Given the description of an element on the screen output the (x, y) to click on. 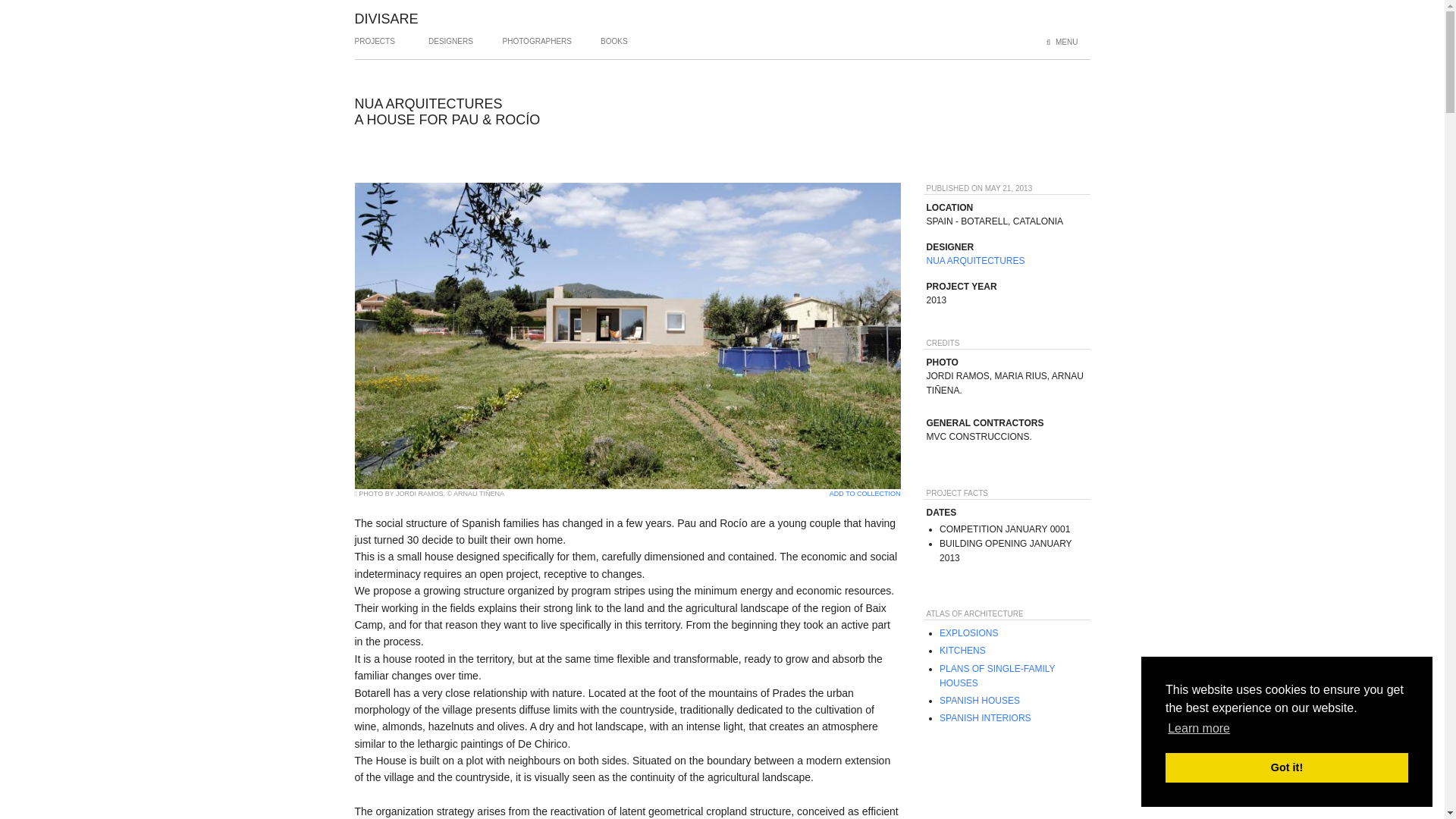
DIVISARE (387, 18)
Got it! (1286, 767)
PROJECTS (374, 46)
Learn more (1198, 728)
